Given the description of an element on the screen output the (x, y) to click on. 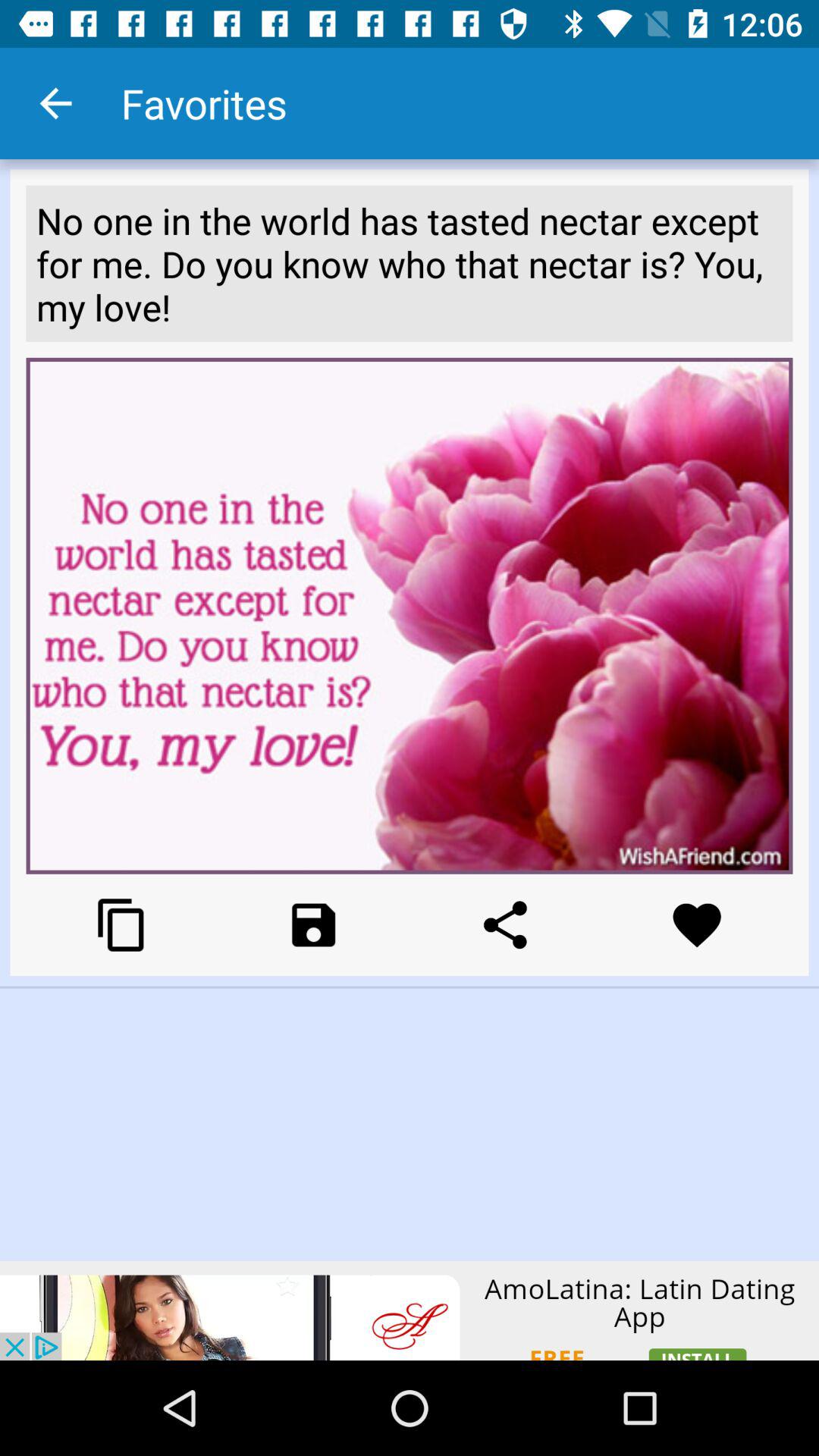
click the add (409, 1310)
